Given the description of an element on the screen output the (x, y) to click on. 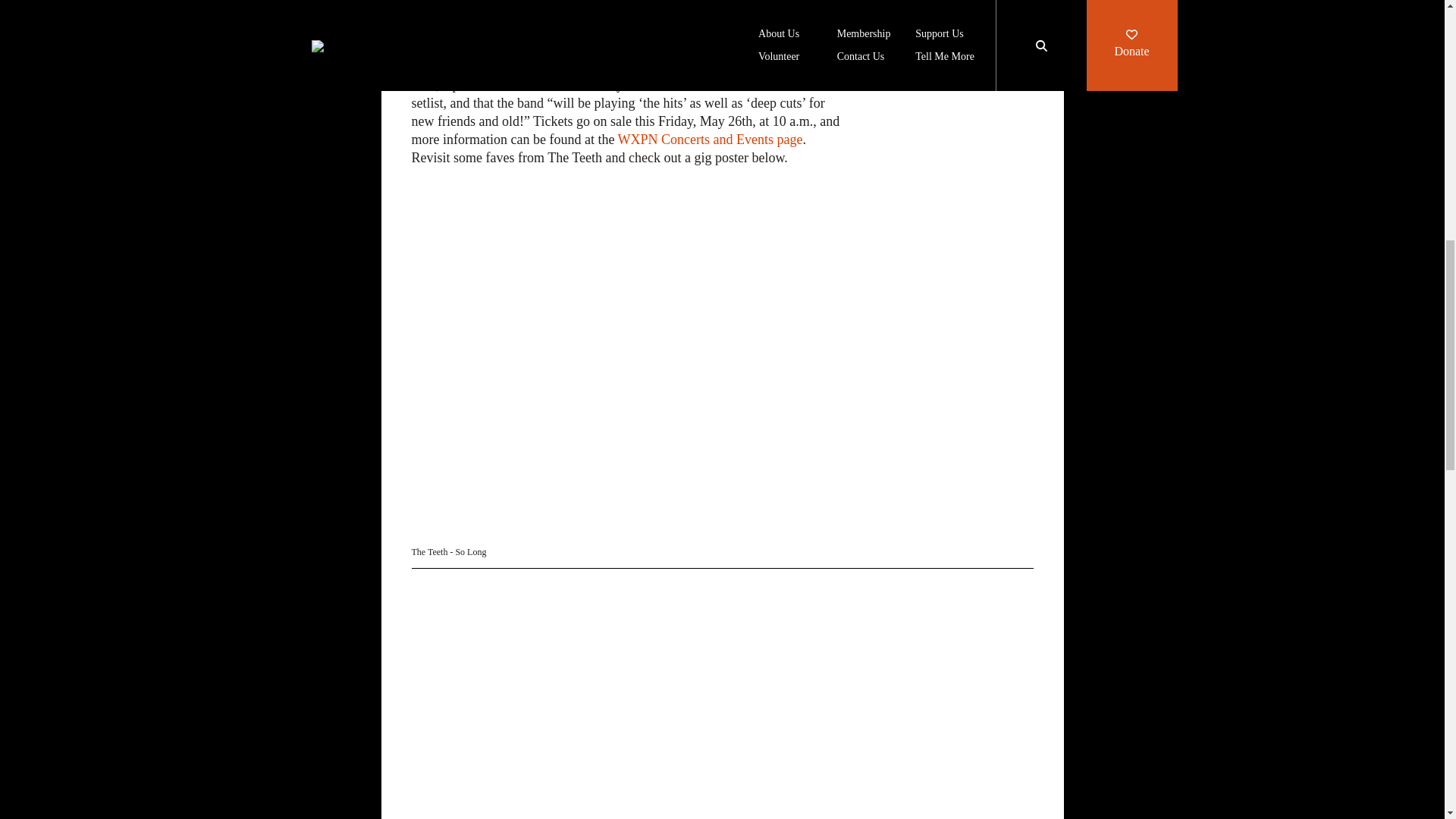
WXPN Concerts and Events page (710, 139)
re-issued Lover and their debut Carry The Wood (619, 39)
a long-form piece at Hard Noise (583, 11)
